Given the description of an element on the screen output the (x, y) to click on. 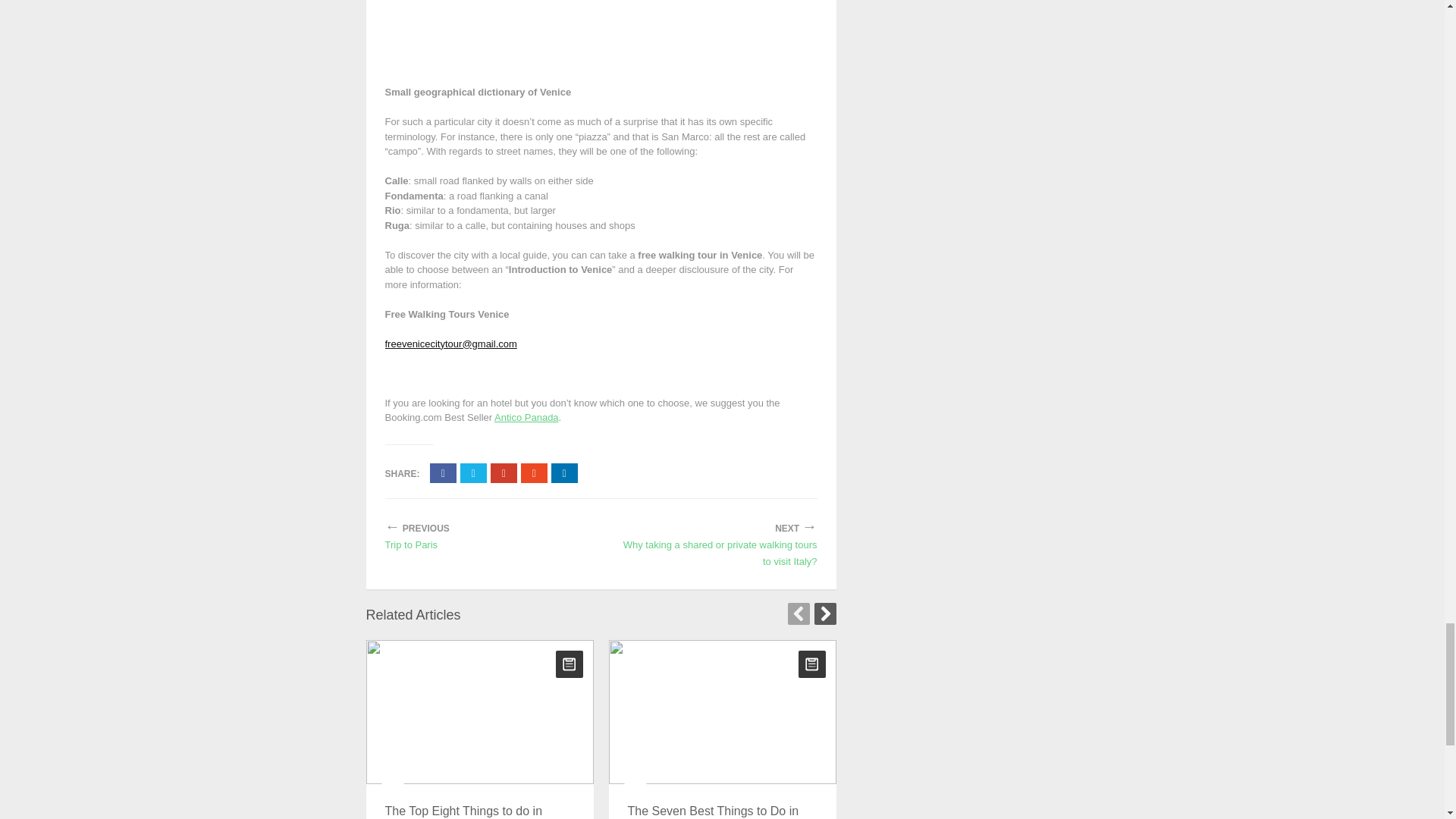
Trip to Paris (482, 545)
Antico Panada (527, 417)
